Given the description of an element on the screen output the (x, y) to click on. 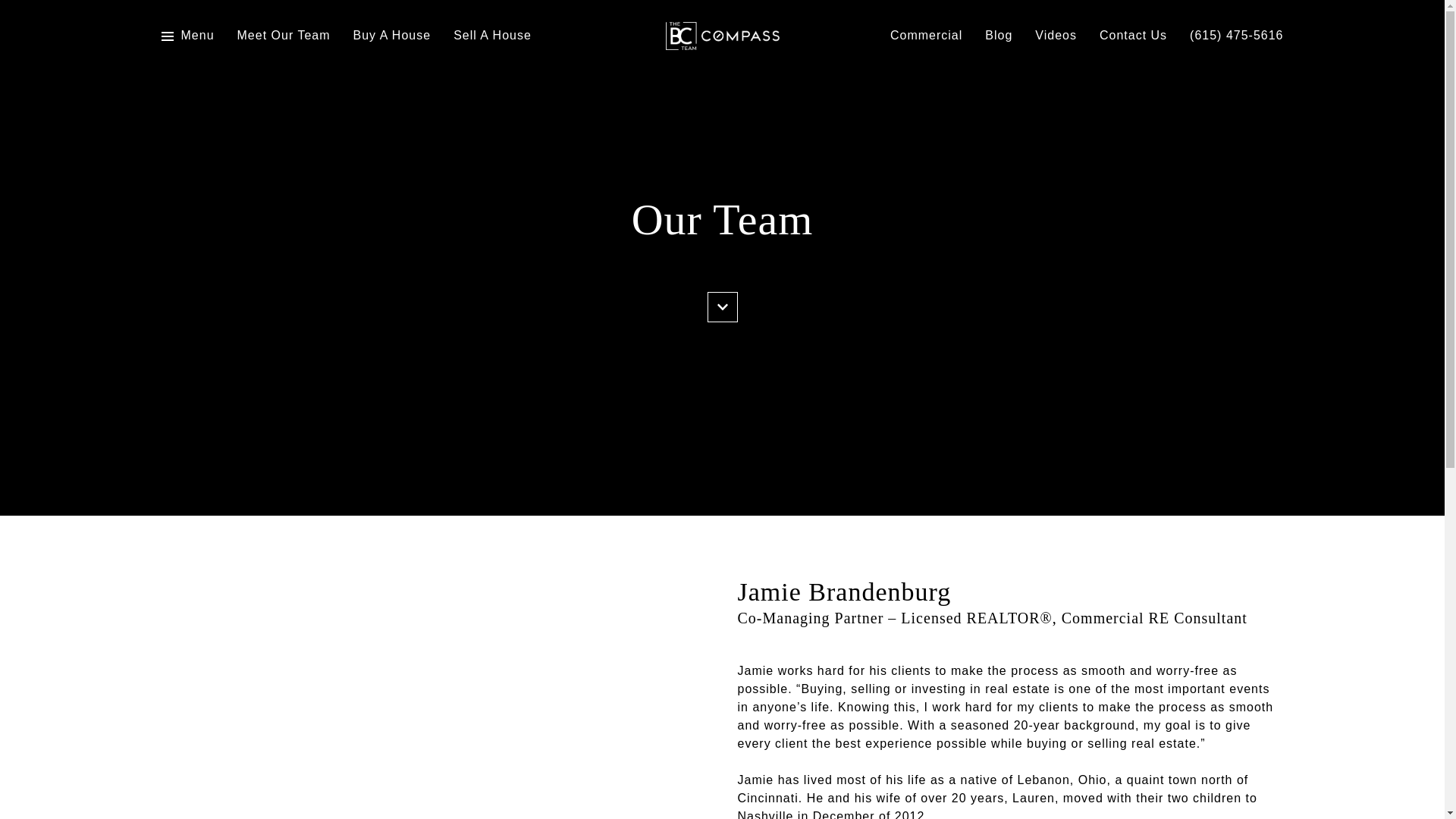
Videos (1056, 35)
Menu (187, 35)
Sell A House (491, 35)
Contact Us (1133, 35)
Blog (998, 35)
Commercial (925, 35)
Menu (197, 35)
Meet Our Team (283, 35)
Buy A House (391, 35)
